Given the description of an element on the screen output the (x, y) to click on. 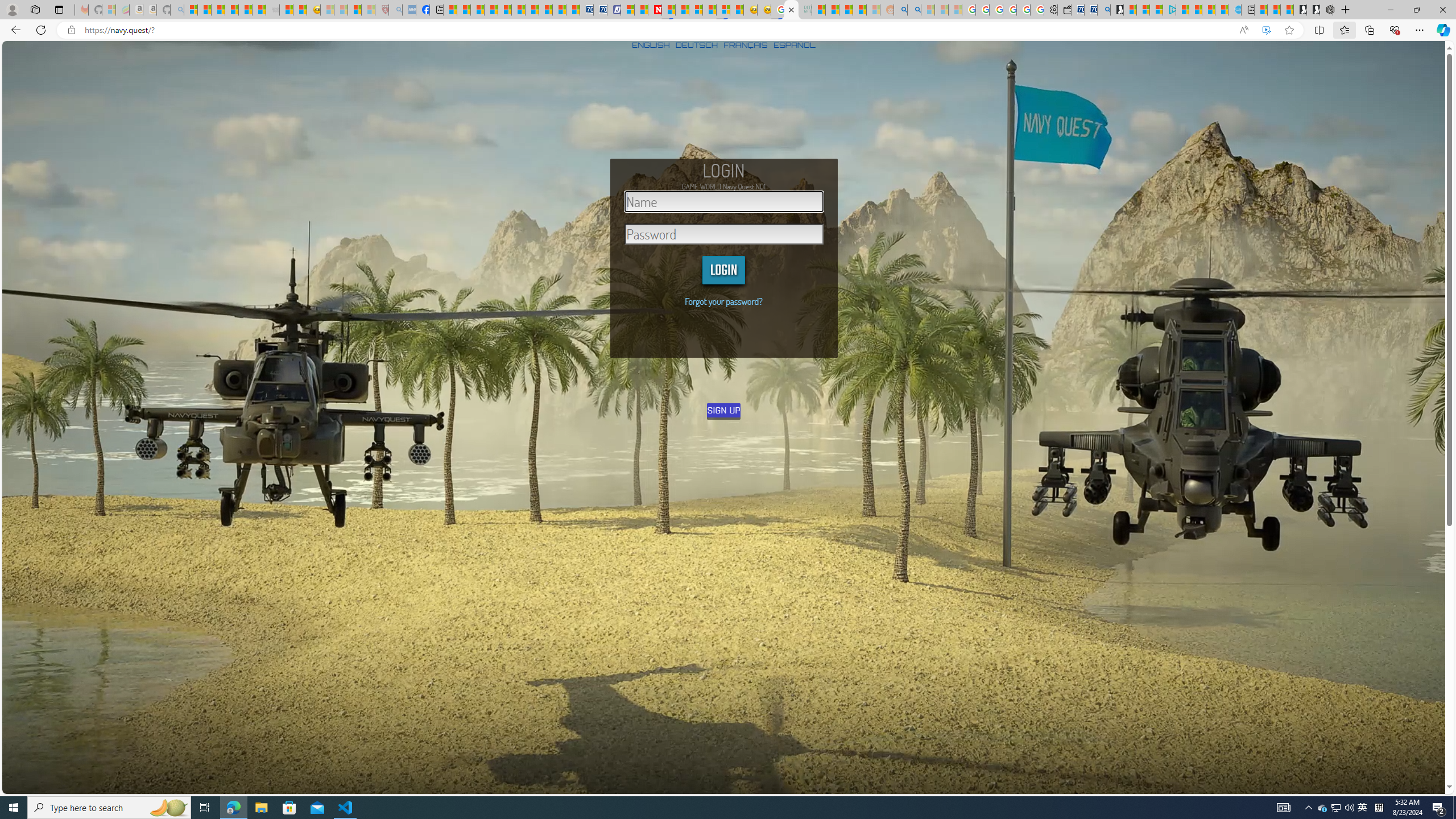
Science - MSN (354, 9)
Latest Politics News & Archive | Newsweek.com (654, 9)
ENGLISH (650, 44)
